Given the description of an element on the screen output the (x, y) to click on. 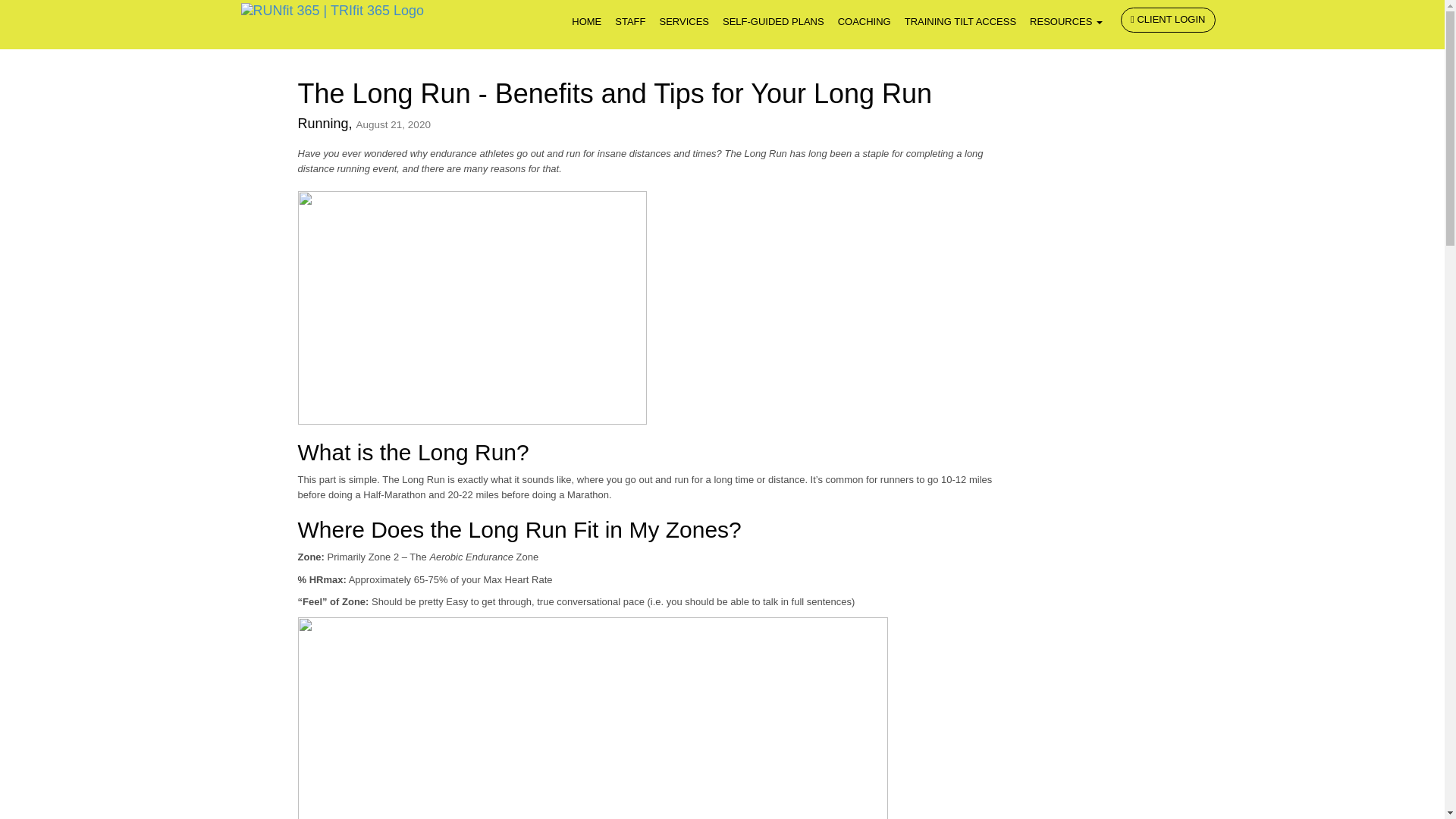
COACHING (864, 22)
RESOURCES (1066, 22)
CLIENT LOGIN (1167, 19)
STAFF (630, 22)
HOME (586, 22)
SERVICES (684, 22)
SELF-GUIDED PLANS (773, 22)
TRAINING TILT ACCESS (960, 22)
